Given the description of an element on the screen output the (x, y) to click on. 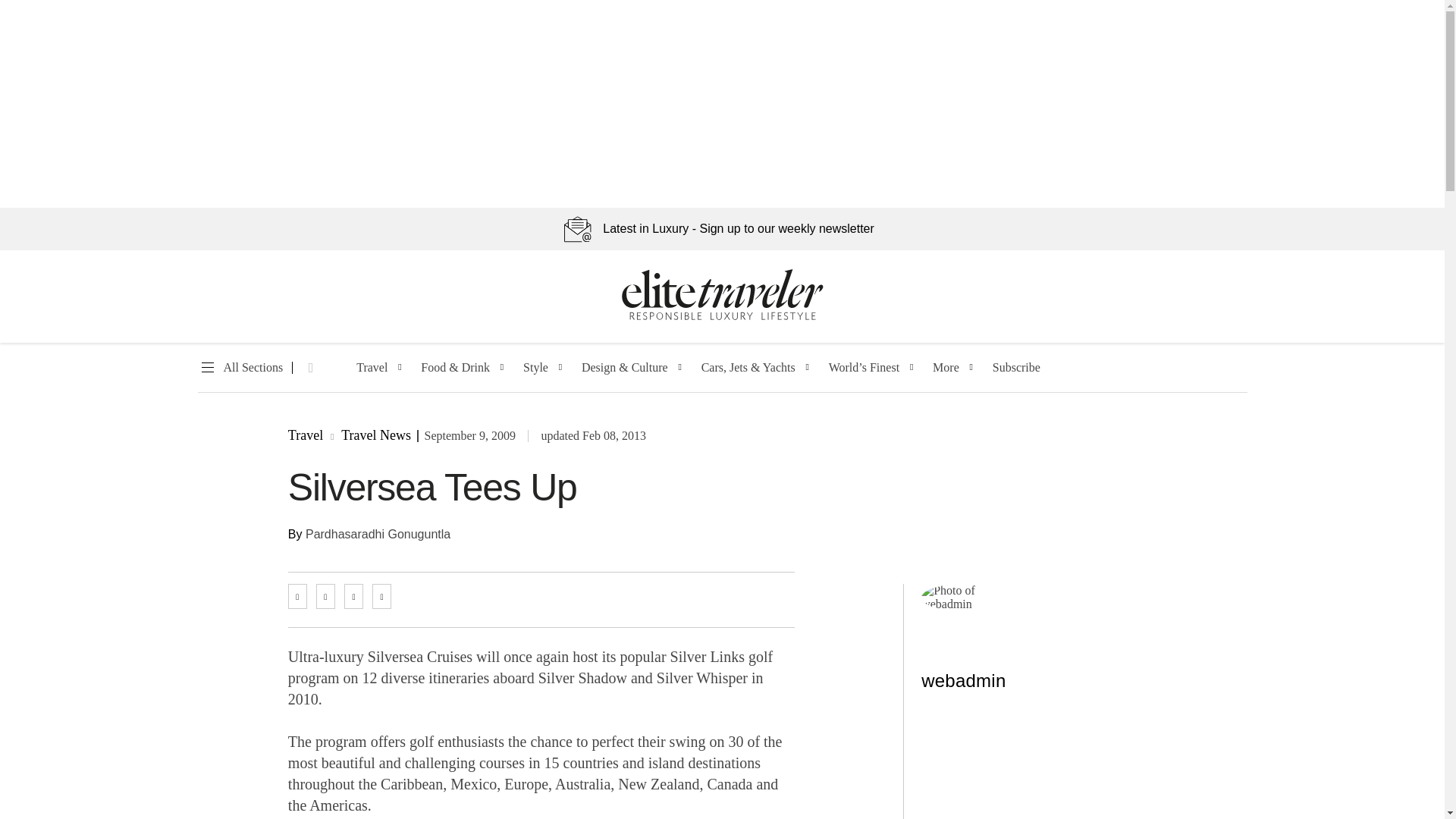
All Sections (239, 368)
Travel (371, 368)
Elite Traveler (722, 317)
